Given the description of an element on the screen output the (x, y) to click on. 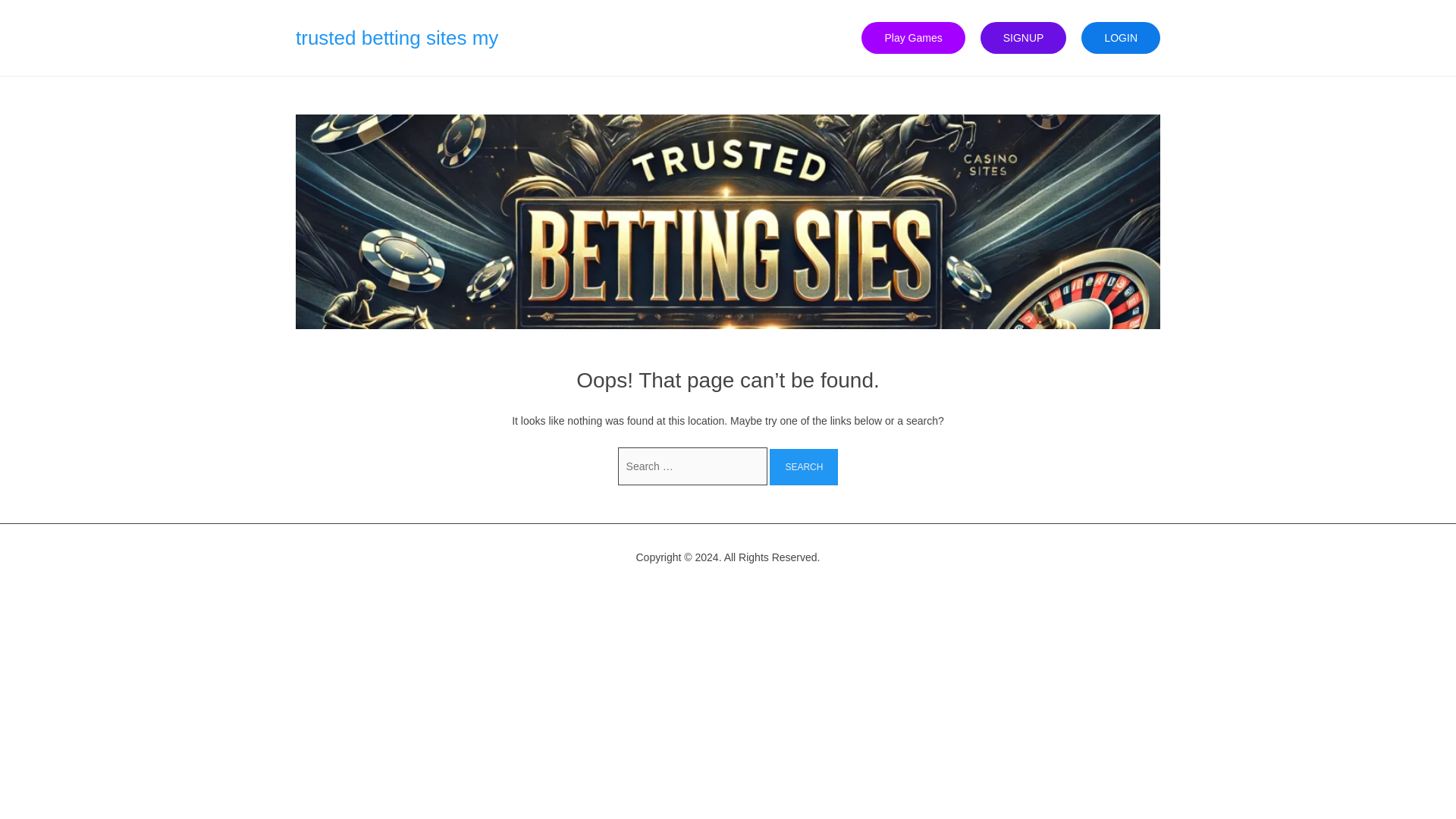
Search (804, 466)
SIGNUP (1023, 38)
Play Games (912, 38)
Search (804, 466)
Search (804, 466)
LOGIN (1120, 38)
trusted betting sites my (396, 37)
